Given the description of an element on the screen output the (x, y) to click on. 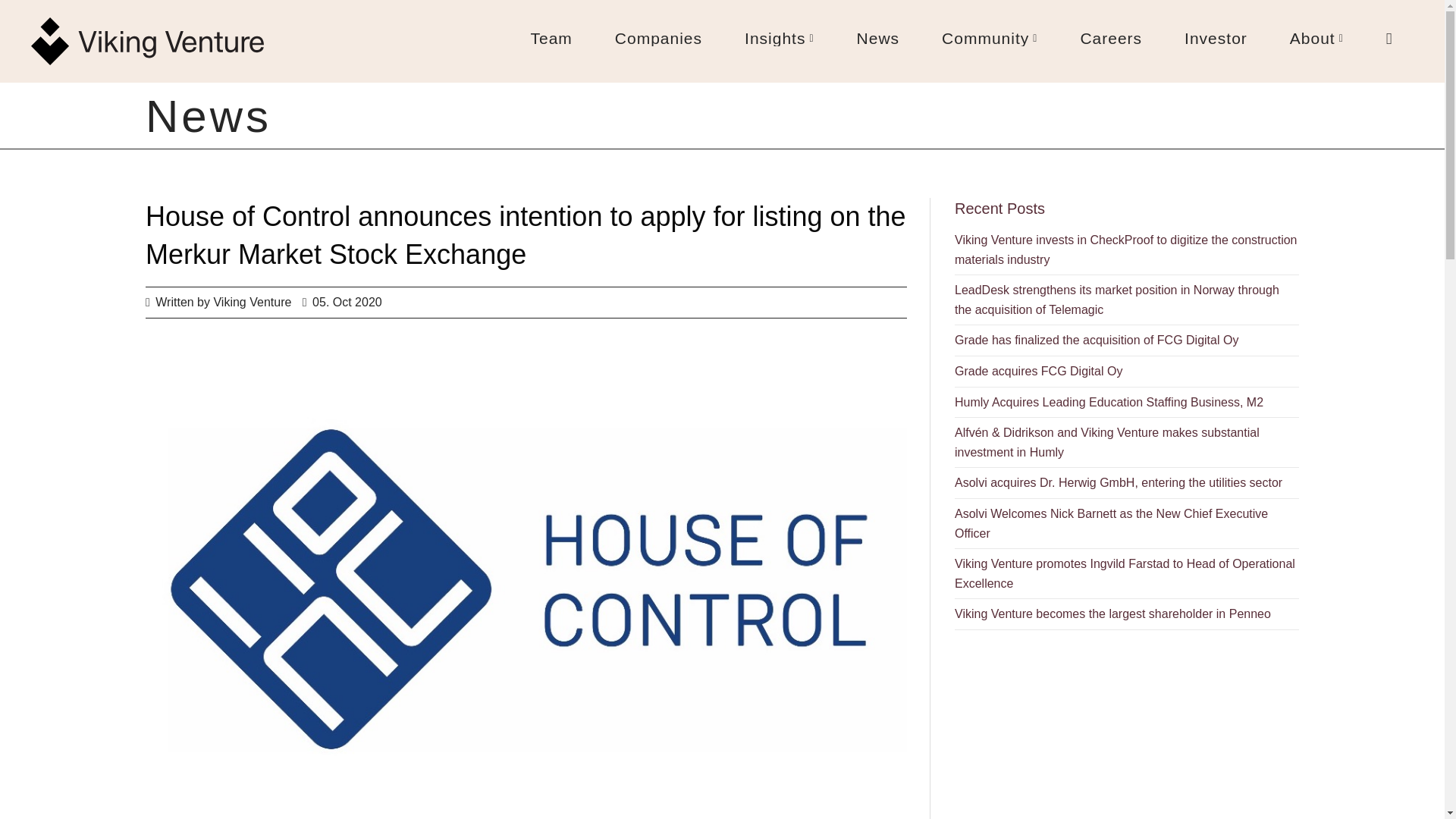
Team (550, 37)
Humly Acquires Leading Education Staffing Business, M2 (1126, 402)
Insights (779, 37)
Community (989, 37)
Grade has finalized the acquisition of FCG Digital Oy (1126, 340)
Companies (658, 37)
Grade acquires FCG Digital Oy (1126, 371)
Investor (1215, 37)
